Given the description of an element on the screen output the (x, y) to click on. 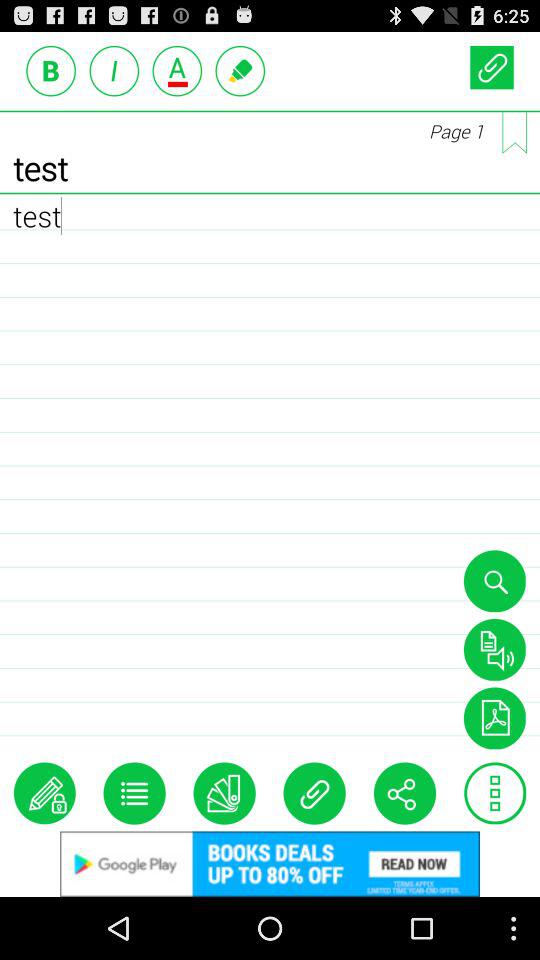
text to speak (494, 649)
